Given the description of an element on the screen output the (x, y) to click on. 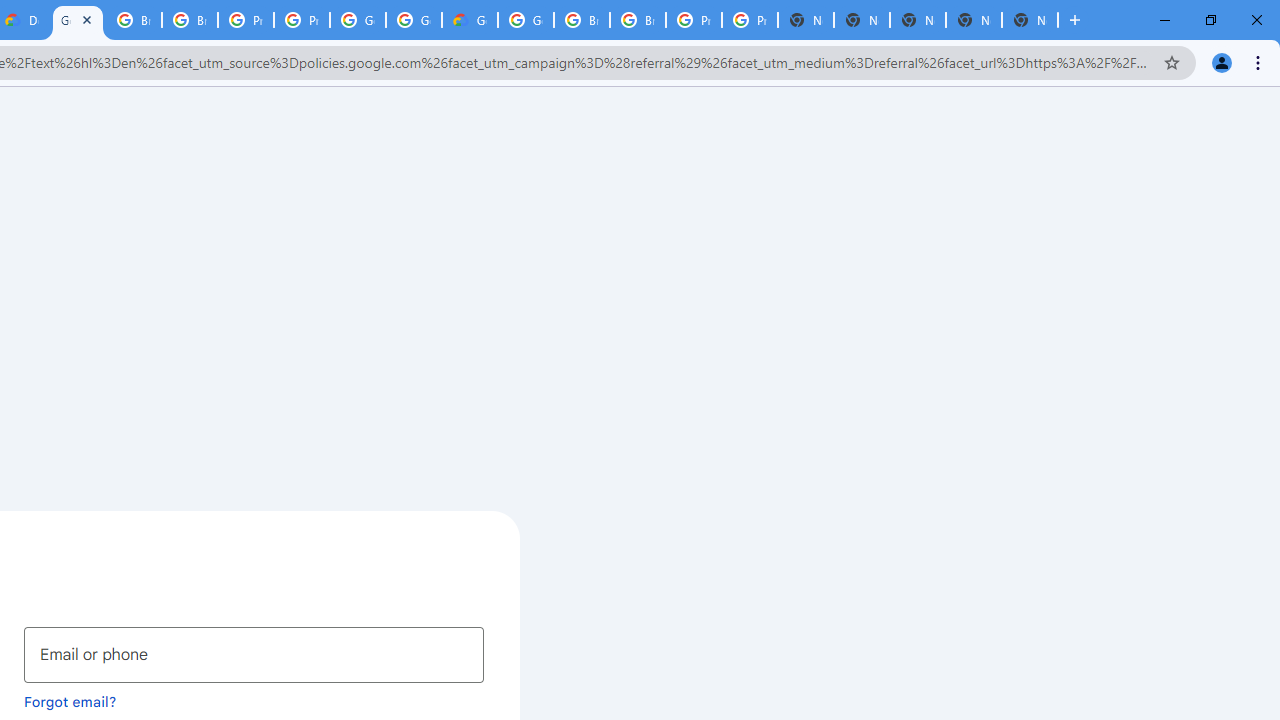
Google Cloud Platform (358, 20)
Browse Chrome as a guest - Computer - Google Chrome Help (134, 20)
New Tab (1030, 20)
Google Cloud Estimate Summary (469, 20)
Google Cloud Platform (413, 20)
Forgot email? (70, 701)
Google Cloud Platform (525, 20)
Browse Chrome as a guest - Computer - Google Chrome Help (582, 20)
